Given the description of an element on the screen output the (x, y) to click on. 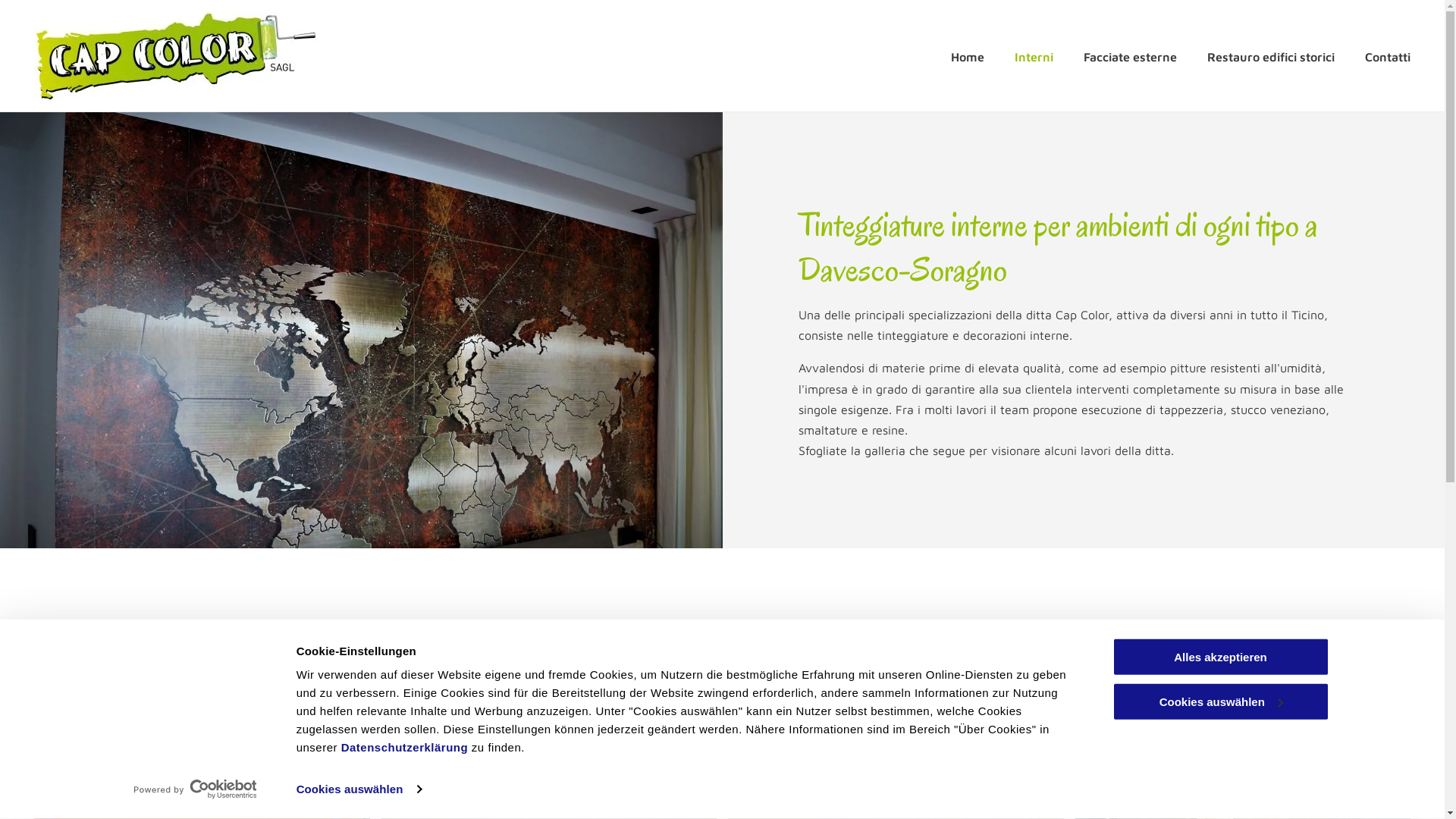
Cap Color Element type: hover (175, 55)
Contatti Element type: text (1383, 56)
Restauro edifici storici Element type: text (1267, 56)
Alles akzeptieren Element type: text (1219, 656)
Facciate esterne Element type: text (1126, 56)
Home Element type: text (963, 56)
Interni Element type: text (1029, 56)
